Given the description of an element on the screen output the (x, y) to click on. 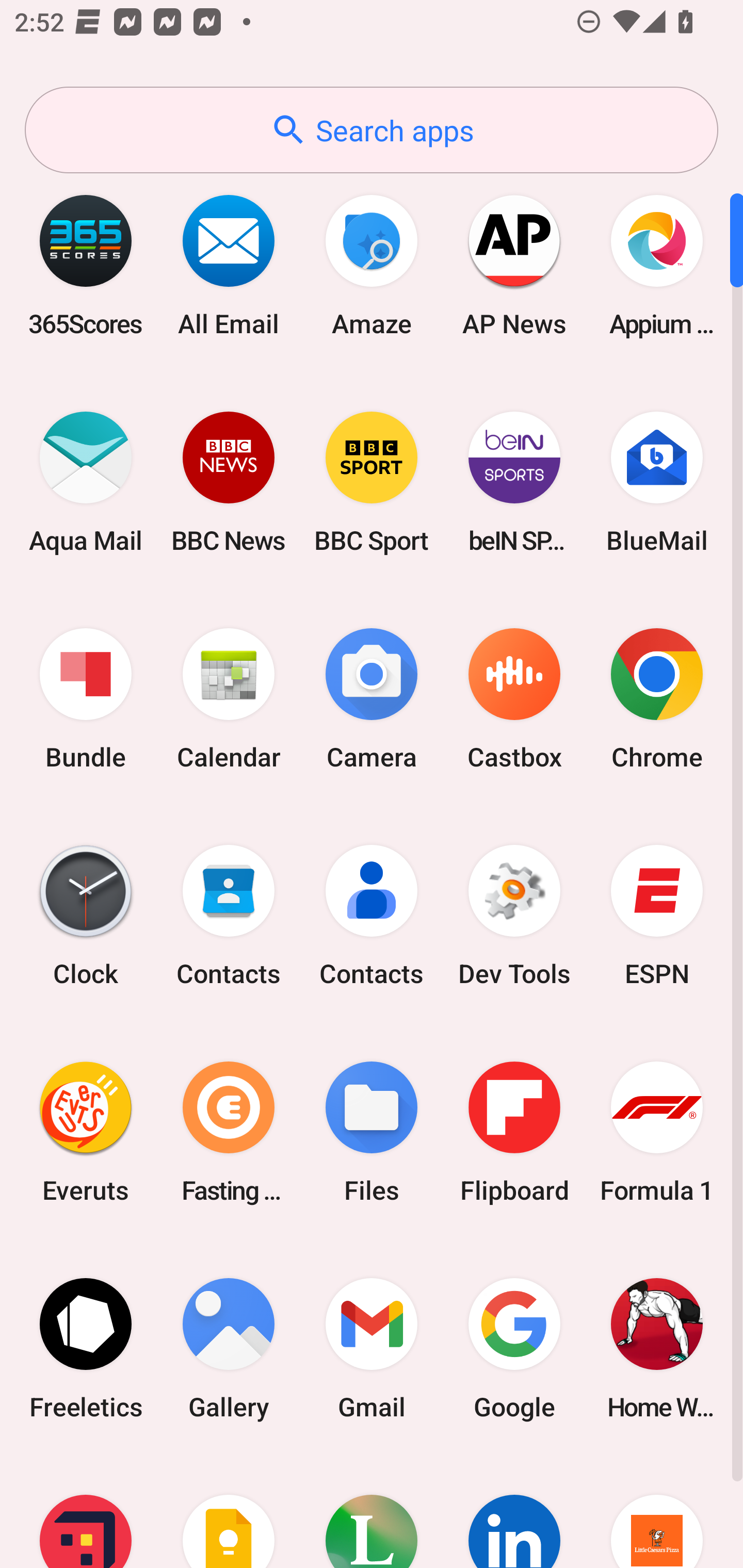
  Search apps (371, 130)
365Scores (85, 264)
All Email (228, 264)
Amaze (371, 264)
AP News (514, 264)
Appium Settings (656, 264)
Aqua Mail (85, 482)
BBC News (228, 482)
BBC Sport (371, 482)
beIN SPORTS (514, 482)
BlueMail (656, 482)
Bundle (85, 699)
Calendar (228, 699)
Camera (371, 699)
Castbox (514, 699)
Chrome (656, 699)
Clock (85, 915)
Contacts (228, 915)
Contacts (371, 915)
Dev Tools (514, 915)
ESPN (656, 915)
Everuts (85, 1131)
Fasting Coach (228, 1131)
Files (371, 1131)
Flipboard (514, 1131)
Formula 1 (656, 1131)
Freeletics (85, 1348)
Gallery (228, 1348)
Gmail (371, 1348)
Google (514, 1348)
Home Workout (656, 1348)
Hotels.com (85, 1512)
Keep Notes (228, 1512)
Lifesum (371, 1512)
LinkedIn (514, 1512)
Little Caesars Pizza (656, 1512)
